Given the description of an element on the screen output the (x, y) to click on. 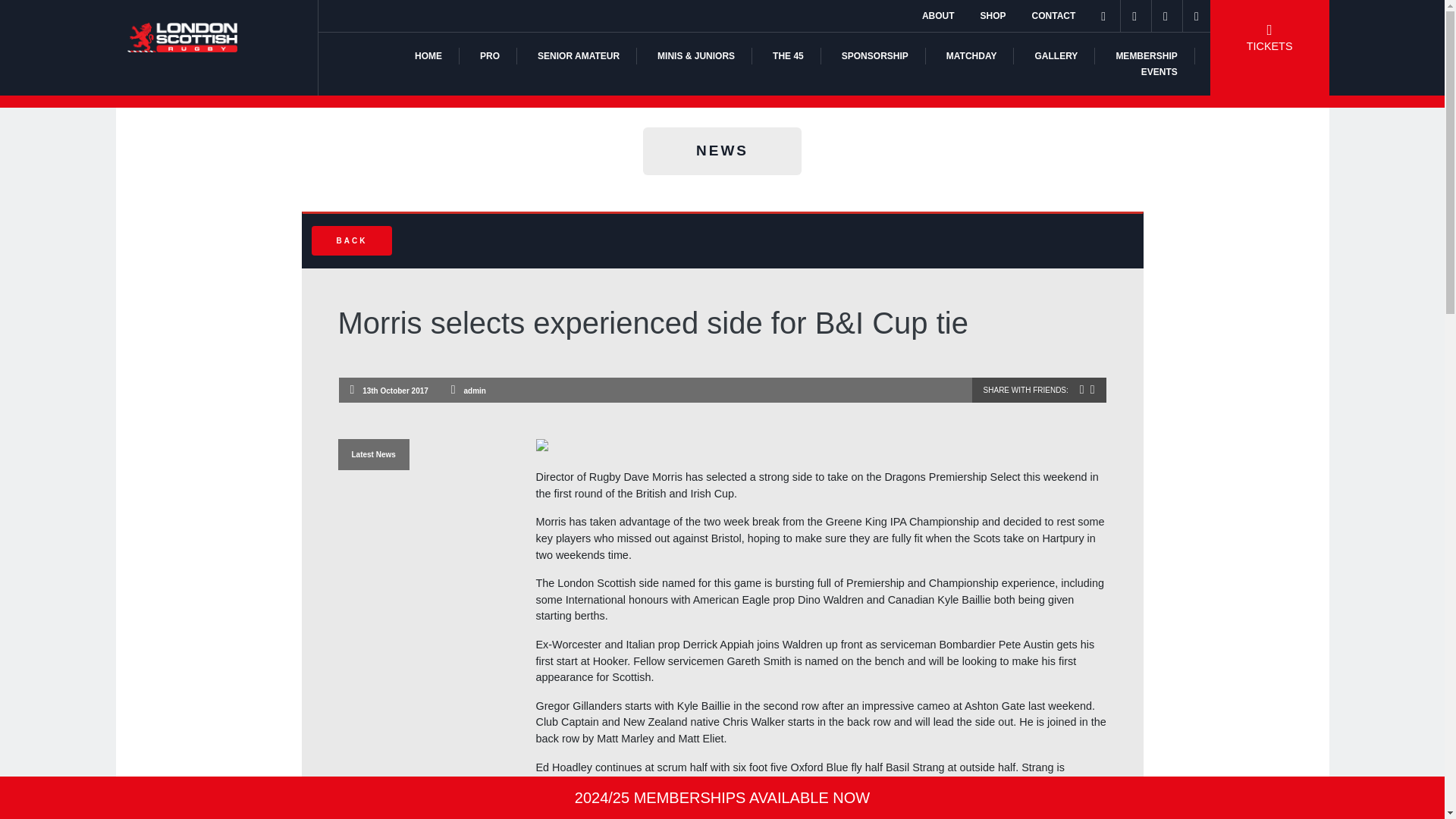
THE 45 (788, 55)
HOME (428, 55)
ABOUT (938, 15)
PRO (489, 55)
SENIOR AMATEUR (578, 55)
GALLERY (1055, 55)
MATCHDAY (971, 55)
MEMBERSHIP (1145, 55)
SPONSORSHIP (874, 55)
SHOP (992, 15)
